Given the description of an element on the screen output the (x, y) to click on. 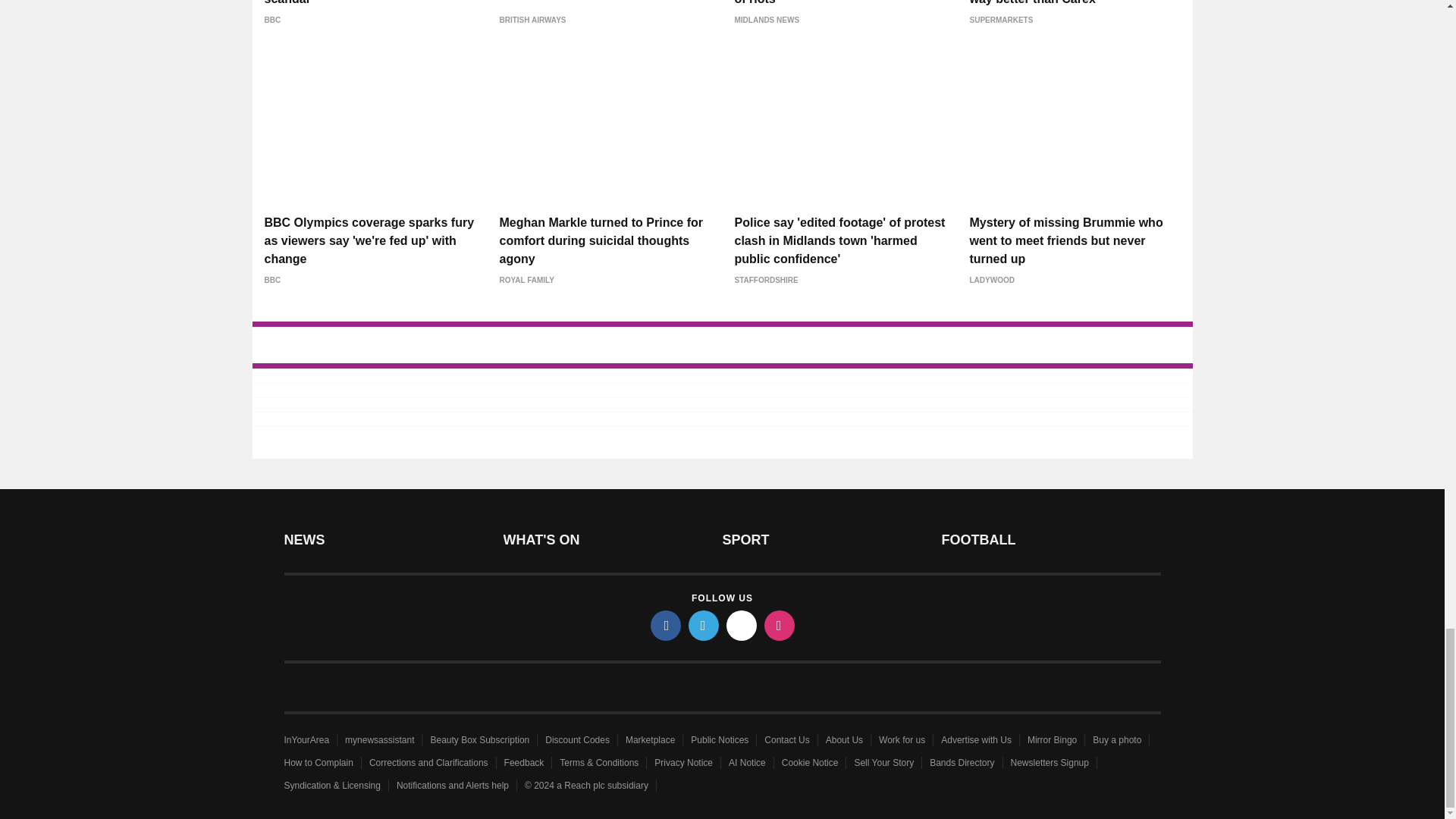
facebook (665, 625)
tiktok (741, 625)
twitter (703, 625)
instagram (779, 625)
